Given the description of an element on the screen output the (x, y) to click on. 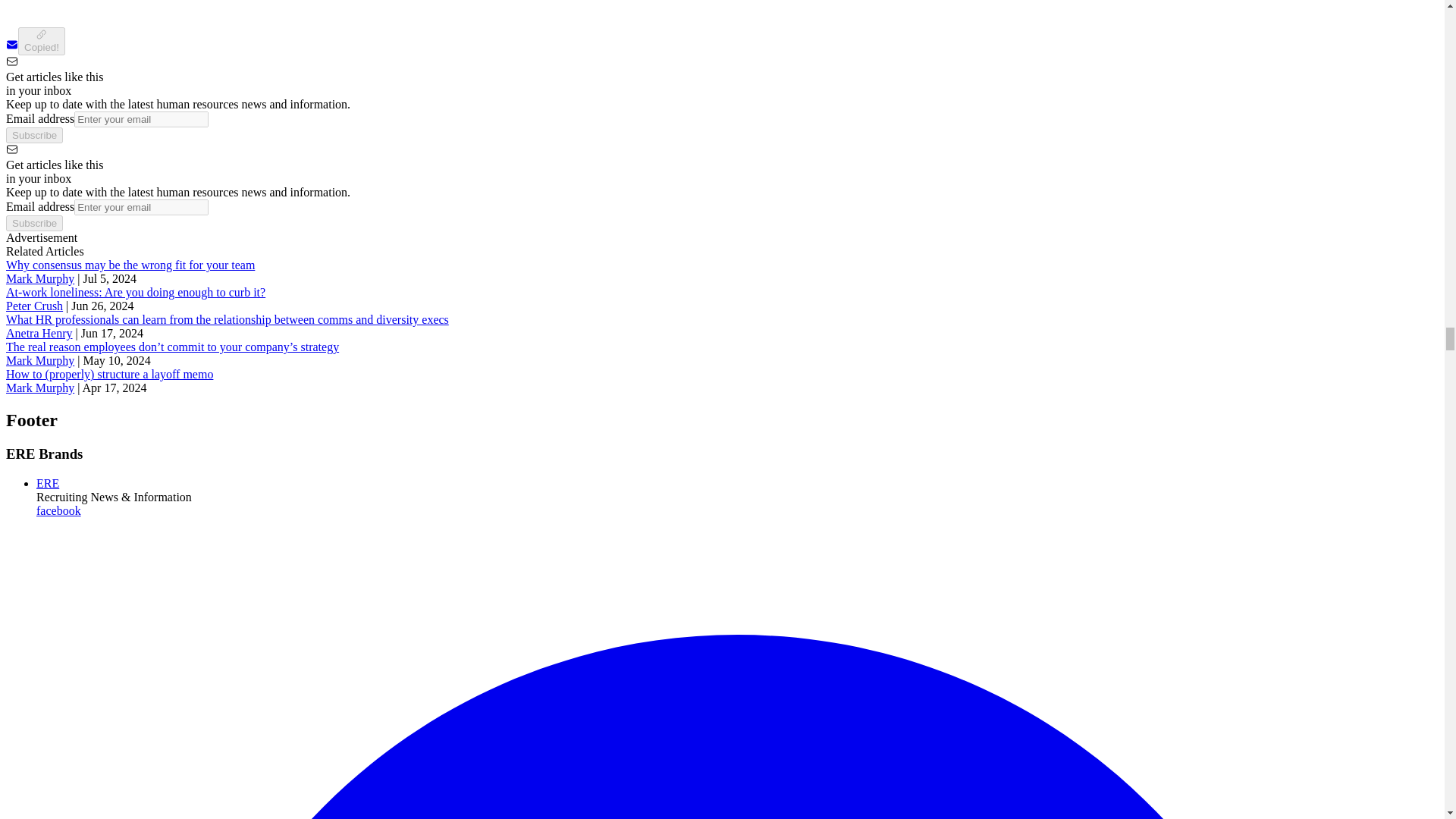
Subscribe (33, 222)
Mark Murphy (39, 278)
Why consensus may be the wrong fit for your team (129, 264)
Peter Crush (33, 305)
Subscribe (33, 135)
At-work loneliness: Are you doing enough to curb it? (134, 291)
Copied! (41, 41)
